Given the description of an element on the screen output the (x, y) to click on. 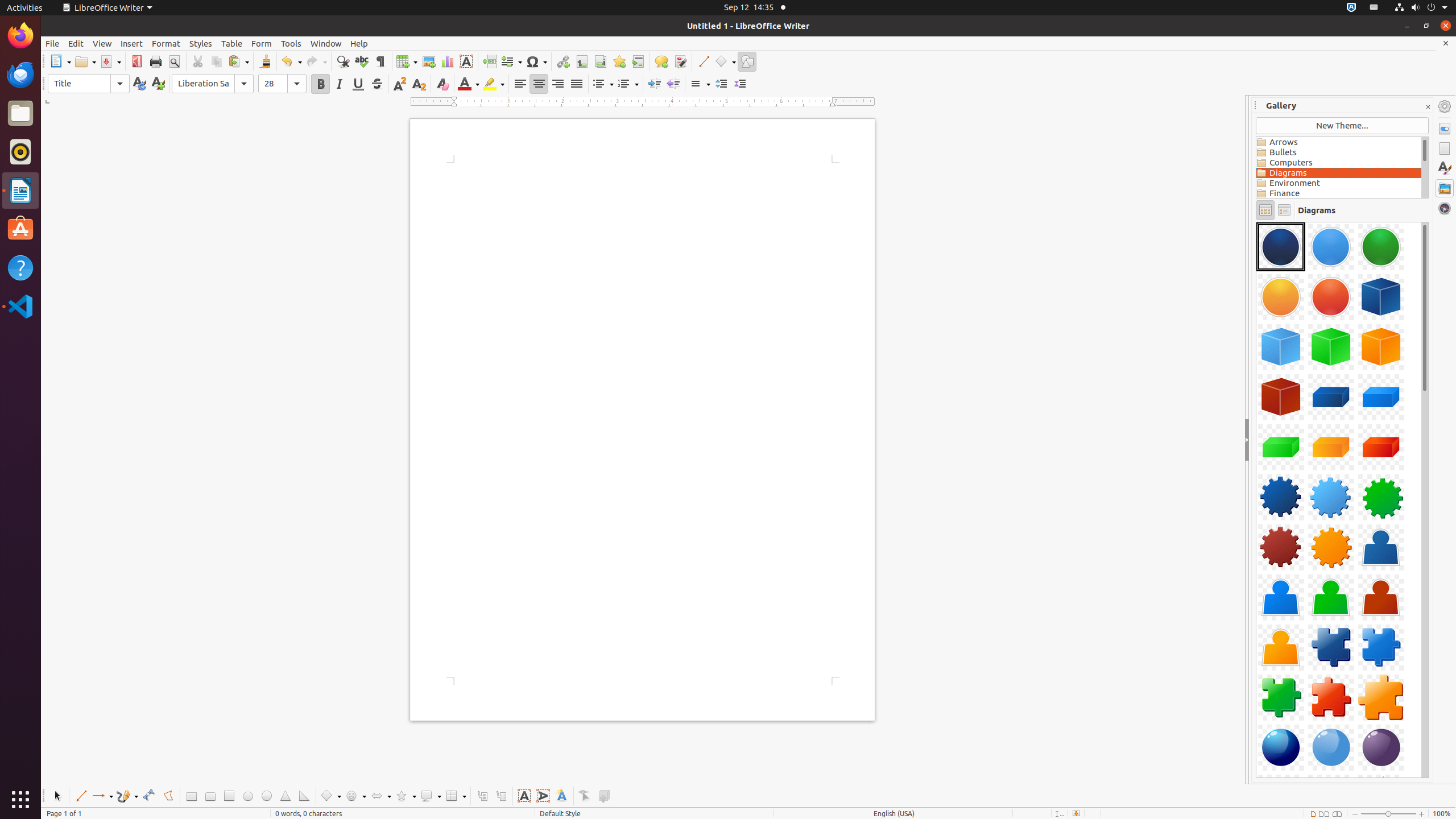
Bookmark Element type: push-button (618, 61)
PDF Element type: push-button (136, 61)
Component-PuzzlePiece03-Green Element type: list-item (1280, 696)
Subscript Element type: toggle-button (418, 83)
Component-Sphere04-DarkRed Element type: list-item (1256, 222)
